Given the description of an element on the screen output the (x, y) to click on. 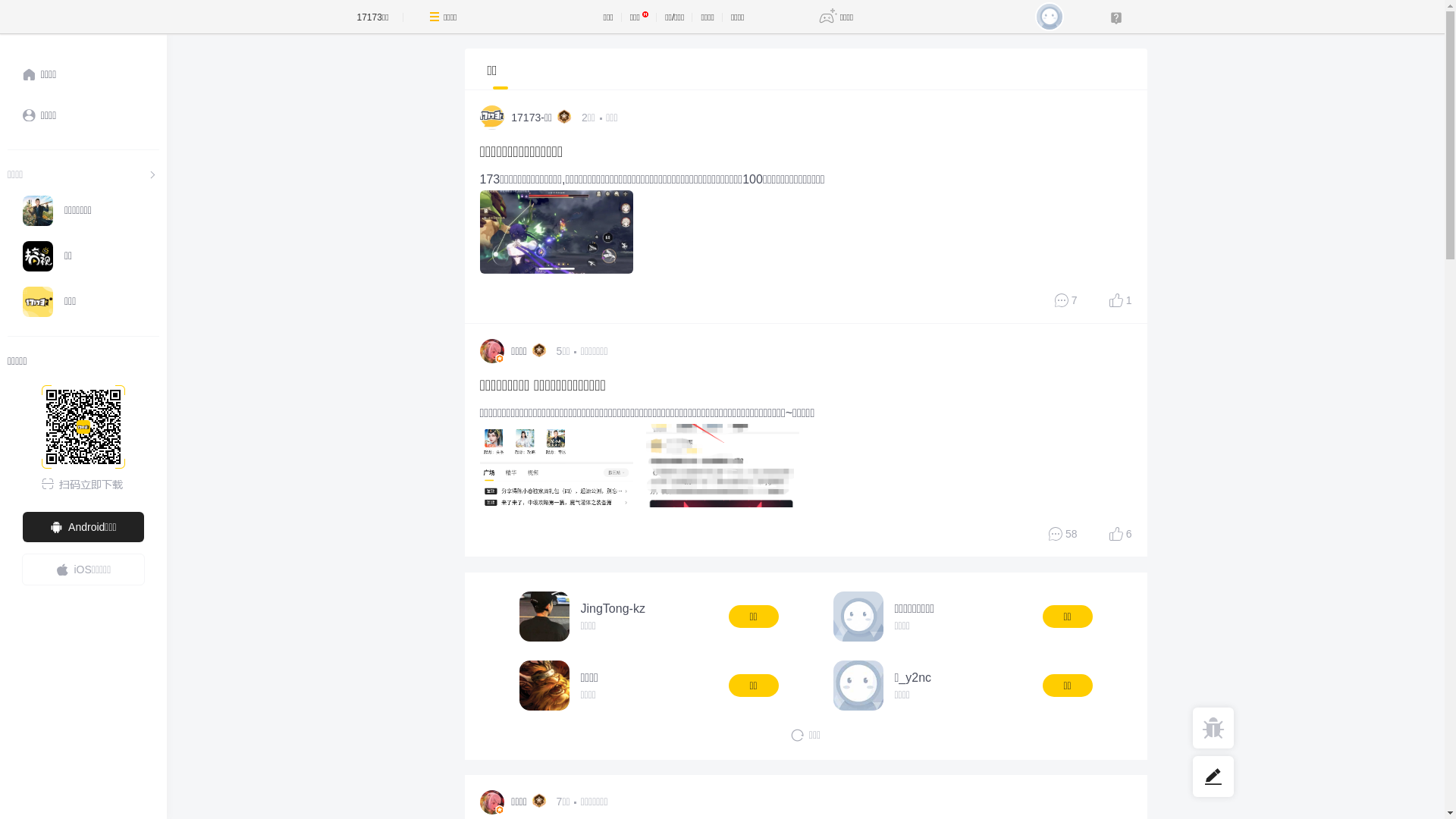
7 Element type: text (1065, 299)
58 Element type: text (1062, 533)
